Given the description of an element on the screen output the (x, y) to click on. 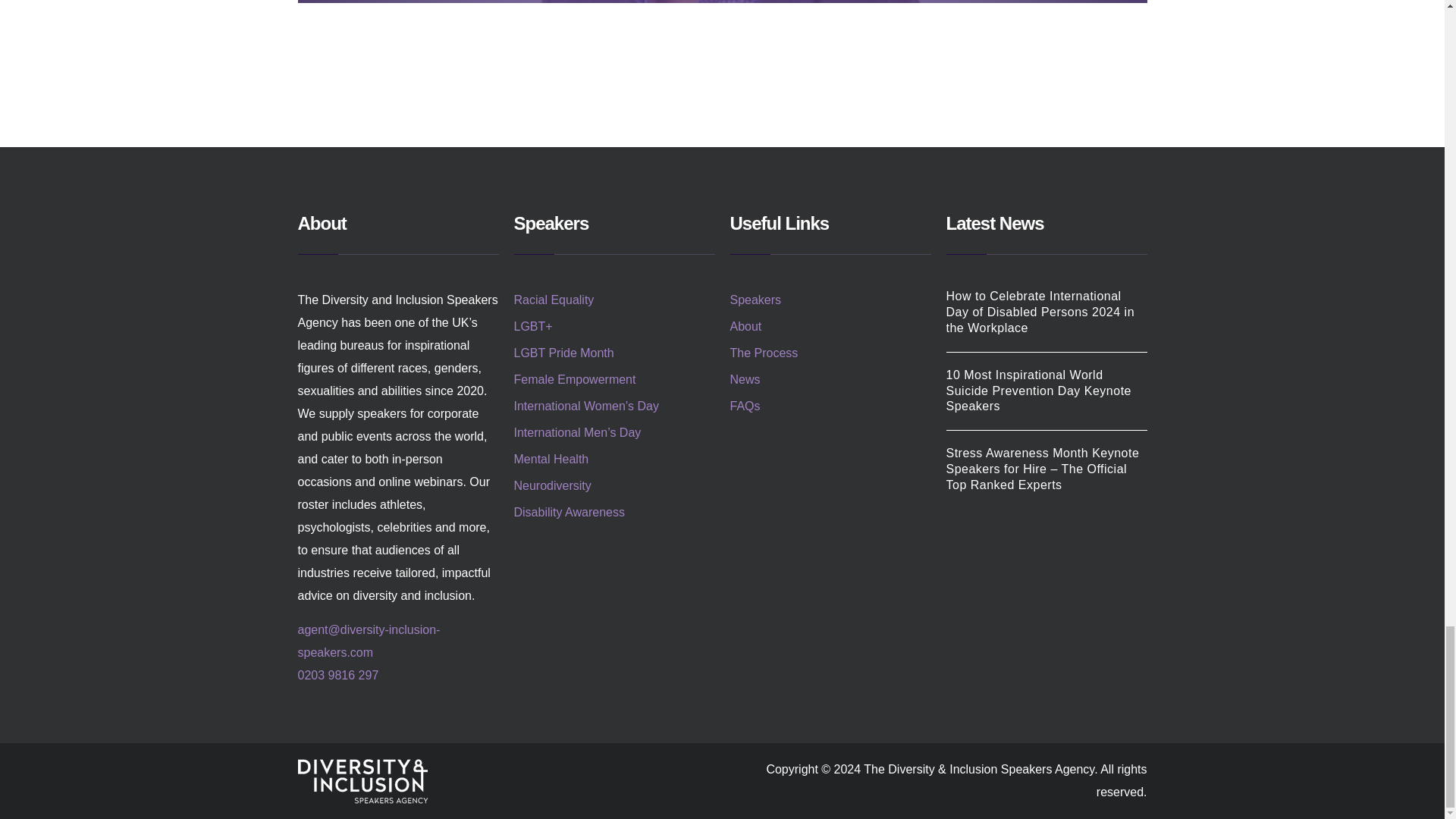
logowhite60 (361, 780)
